Given the description of an element on the screen output the (x, y) to click on. 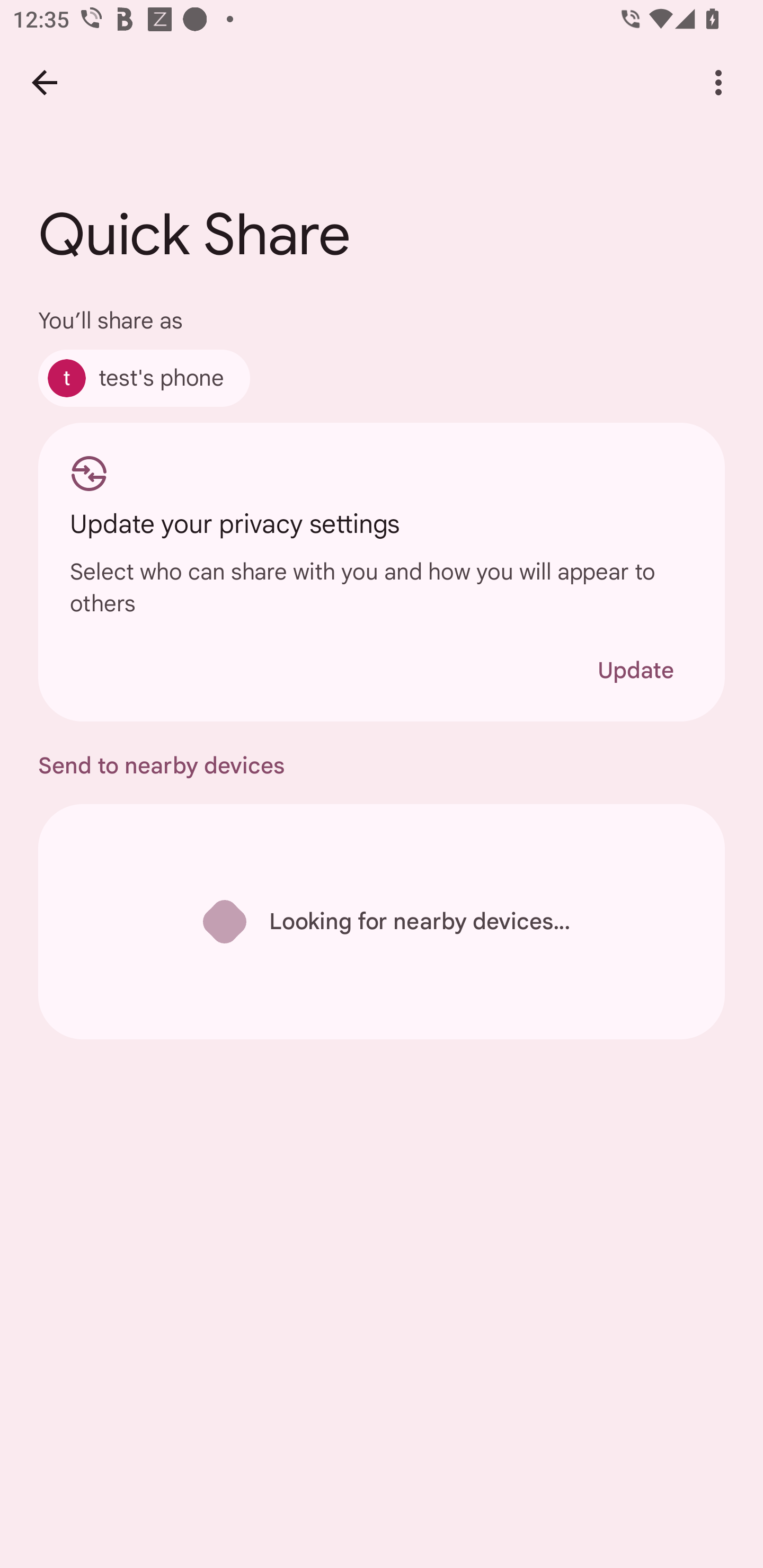
Back (44, 81)
More (718, 81)
test's phone (144, 378)
Update (635, 669)
